Given the description of an element on the screen output the (x, y) to click on. 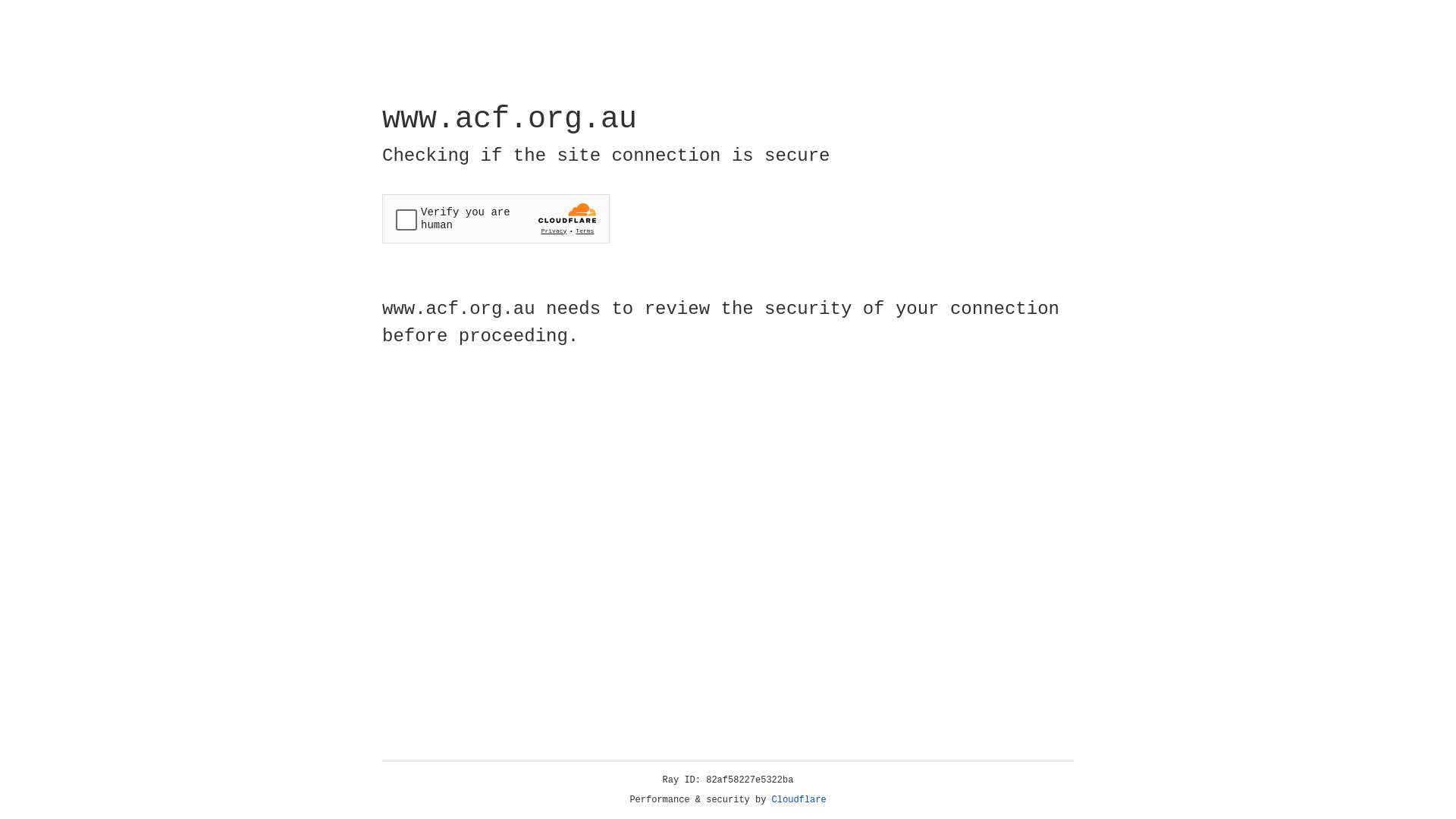
Widget containing a Cloudflare security challenge Element type: hover (495, 218)
Cloudflare Element type: text (798, 799)
